Given the description of an element on the screen output the (x, y) to click on. 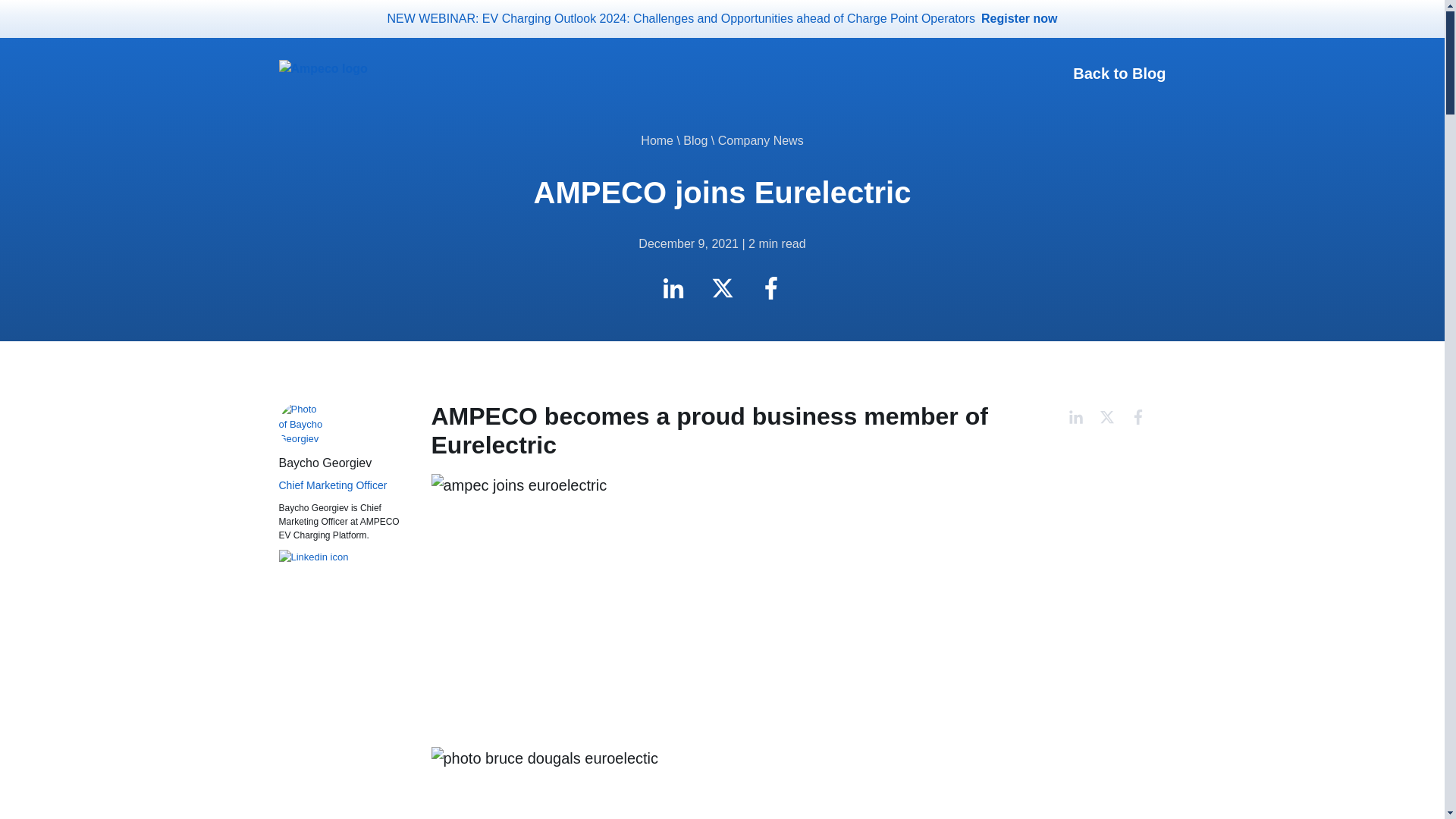
Back to Blog (1119, 73)
photo bruce dougals euroelectic (688, 782)
